Given the description of an element on the screen output the (x, y) to click on. 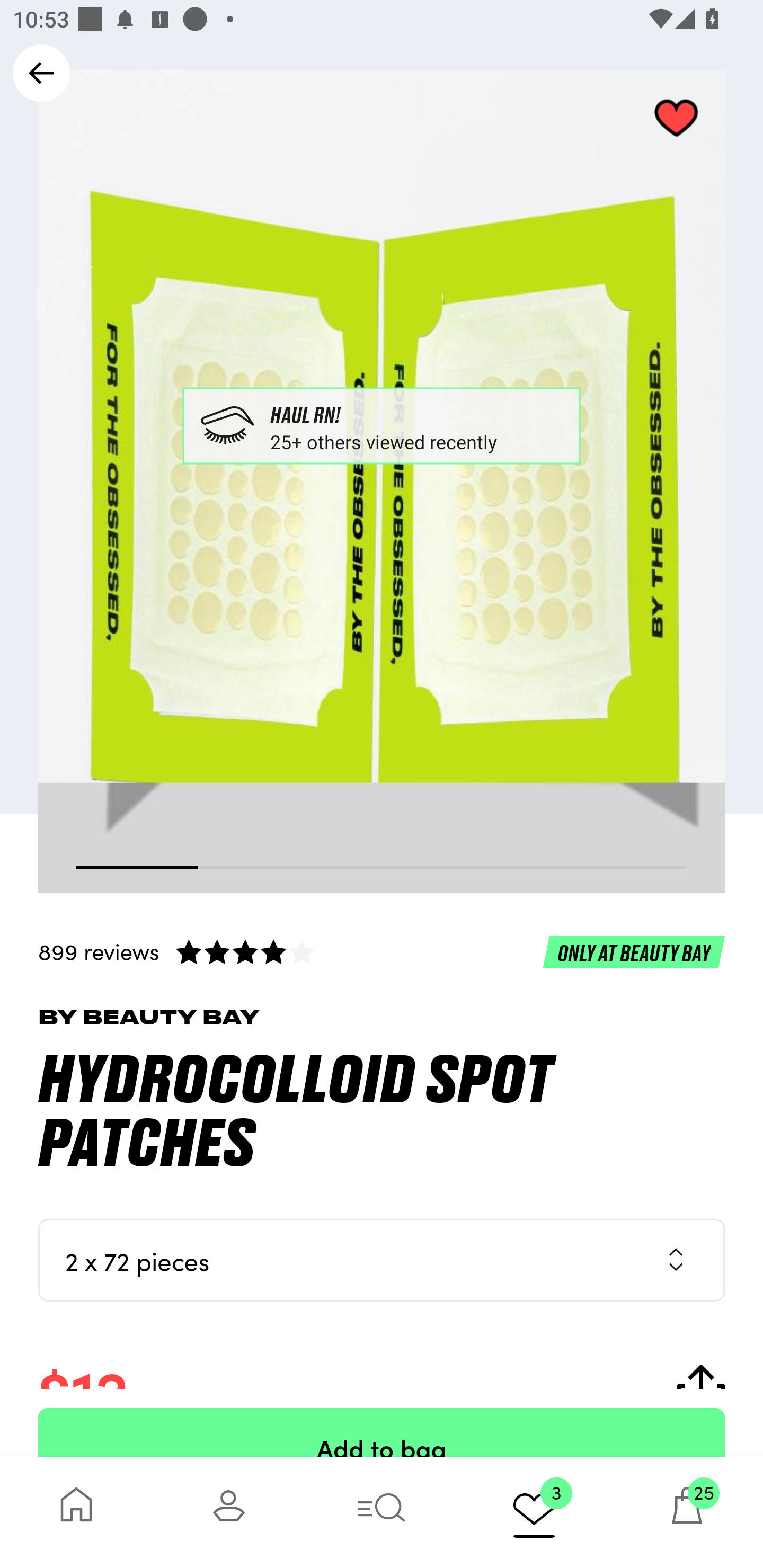
899 reviews (381, 950)
2 x 72 pieces  (381, 1259)
3 (533, 1512)
25 (686, 1512)
